Given the description of an element on the screen output the (x, y) to click on. 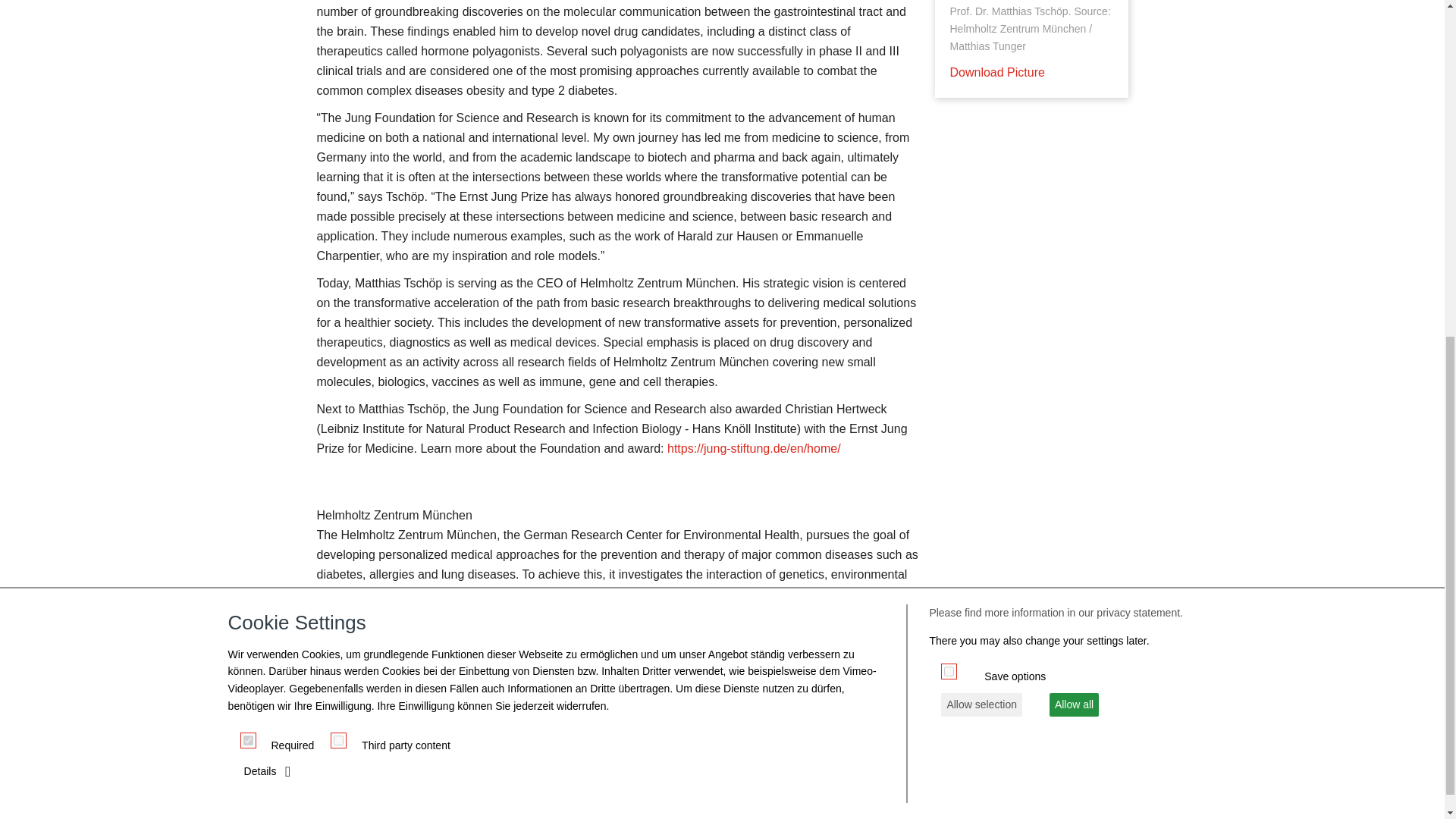
Landtag of the Free State of Saxony (914, 771)
1 (248, 159)
1 (338, 159)
lifetime (948, 90)
